Given the description of an element on the screen output the (x, y) to click on. 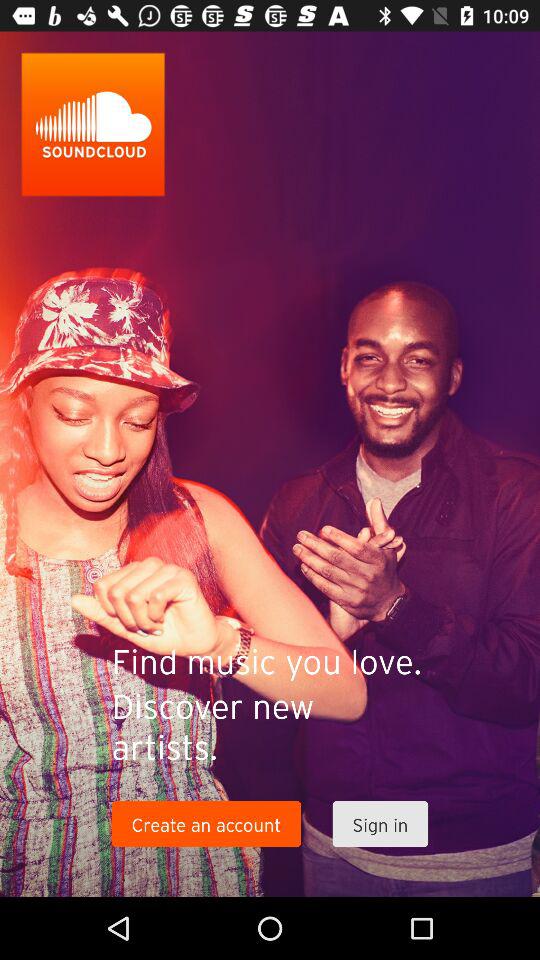
click the icon to the left of sign in item (206, 824)
